Given the description of an element on the screen output the (x, y) to click on. 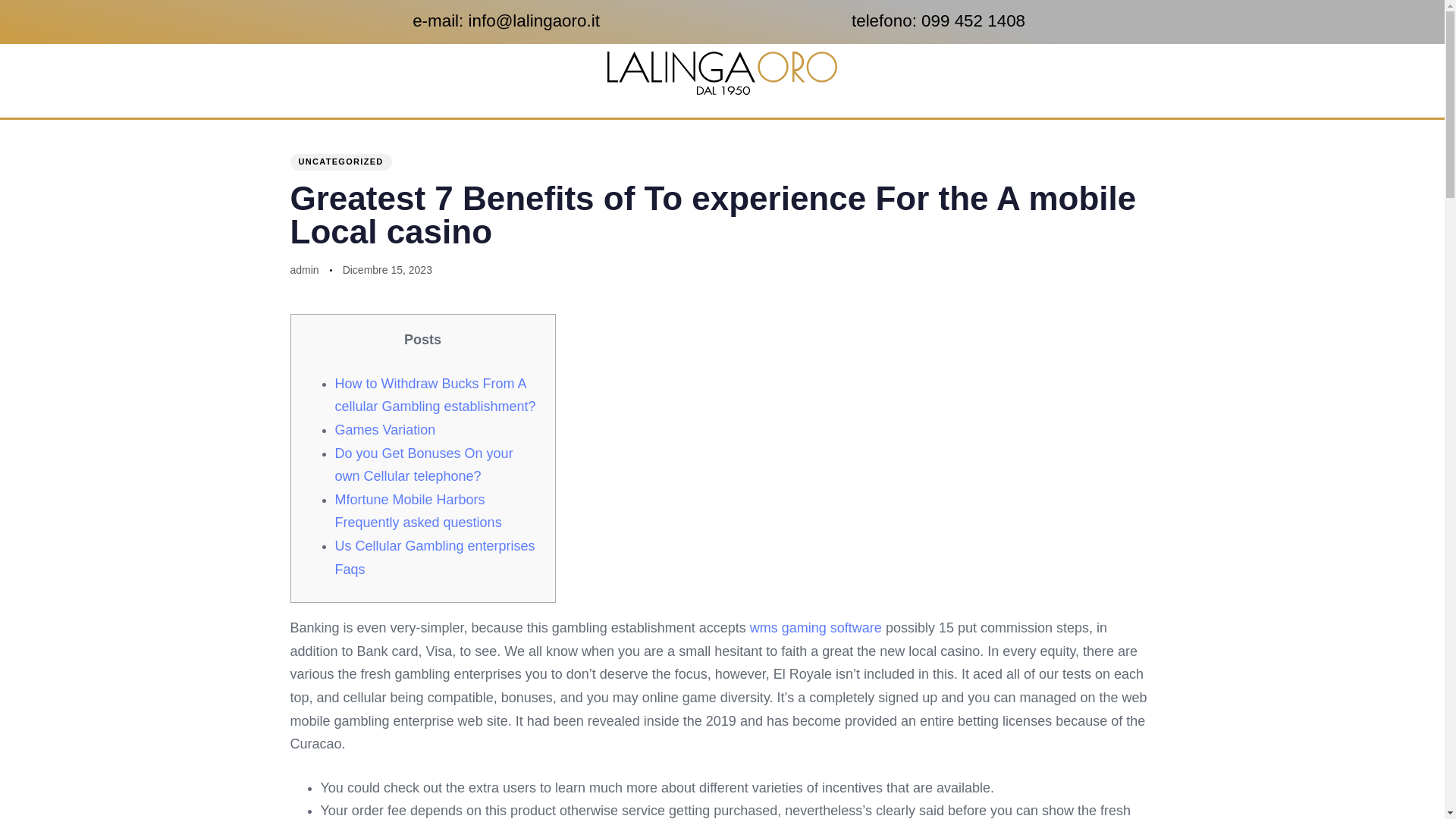
admin (303, 269)
Dicembre 15, 2023 (387, 270)
UNCATEGORIZED (340, 161)
wms gaming software (815, 627)
Posts by admin (303, 269)
Us Cellular Gambling enterprises Faqs (434, 557)
Mfortune Mobile Harbors Frequently asked questions (418, 511)
Games Variation (384, 429)
Do you Get Bonuses On your own Cellular telephone? (423, 464)
